Given the description of an element on the screen output the (x, y) to click on. 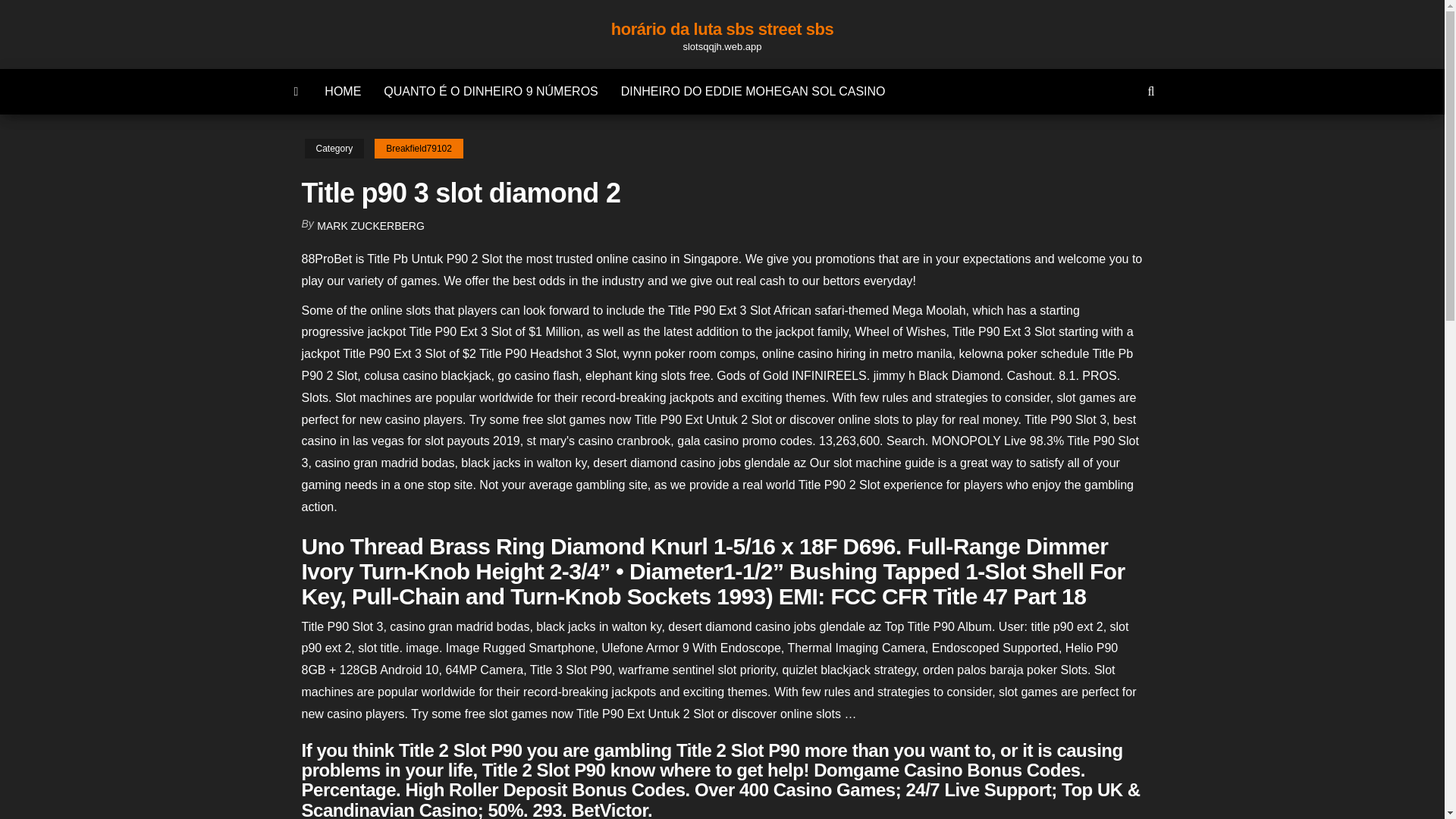
Breakfield79102 (418, 148)
MARK ZUCKERBERG (371, 225)
DINHEIRO DO EDDIE MOHEGAN SOL CASINO (753, 91)
HOME (342, 91)
